Given the description of an element on the screen output the (x, y) to click on. 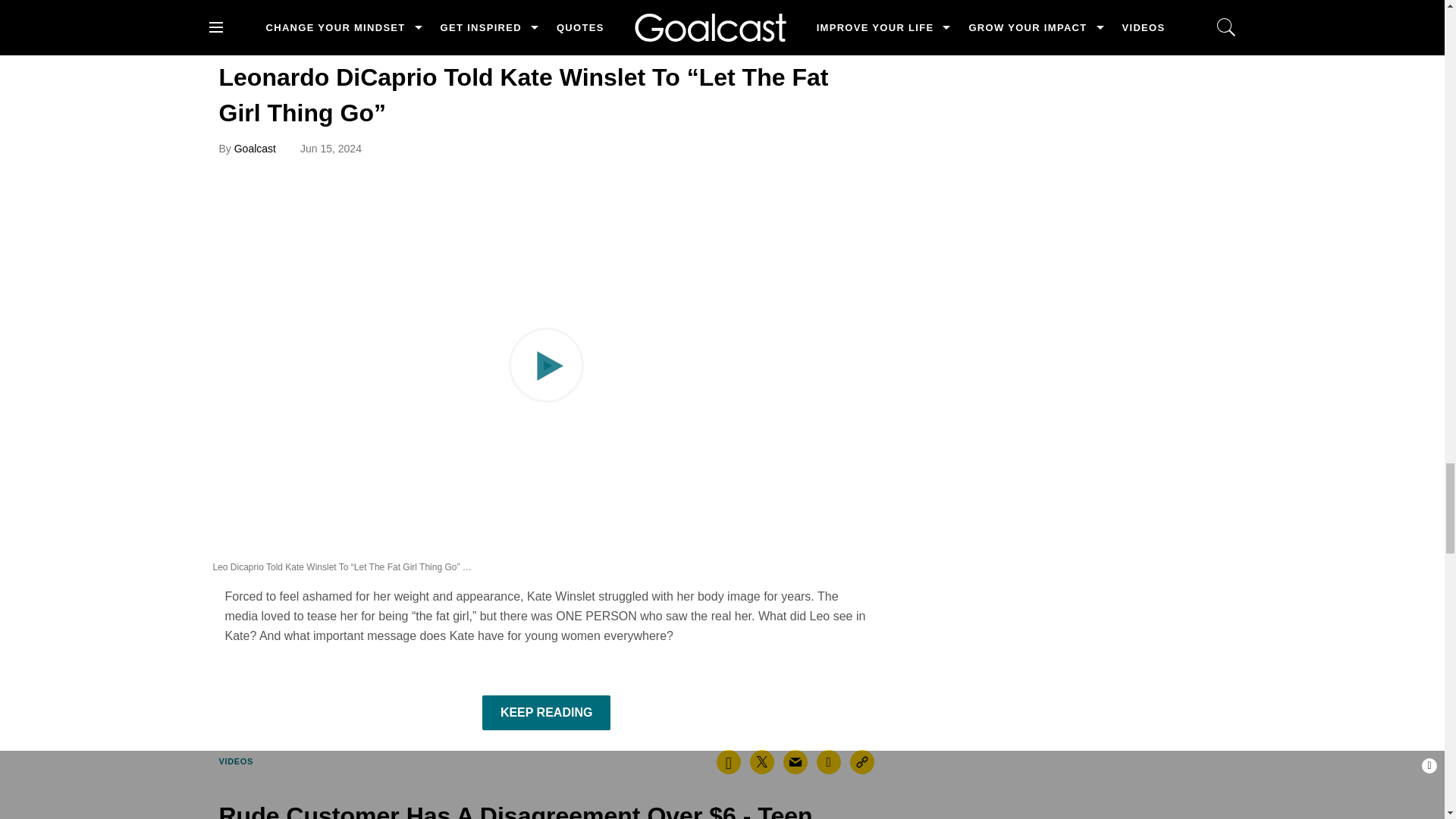
Copy this link to clipboard (785, 11)
Copy this link to clipboard (862, 761)
